Given the description of an element on the screen output the (x, y) to click on. 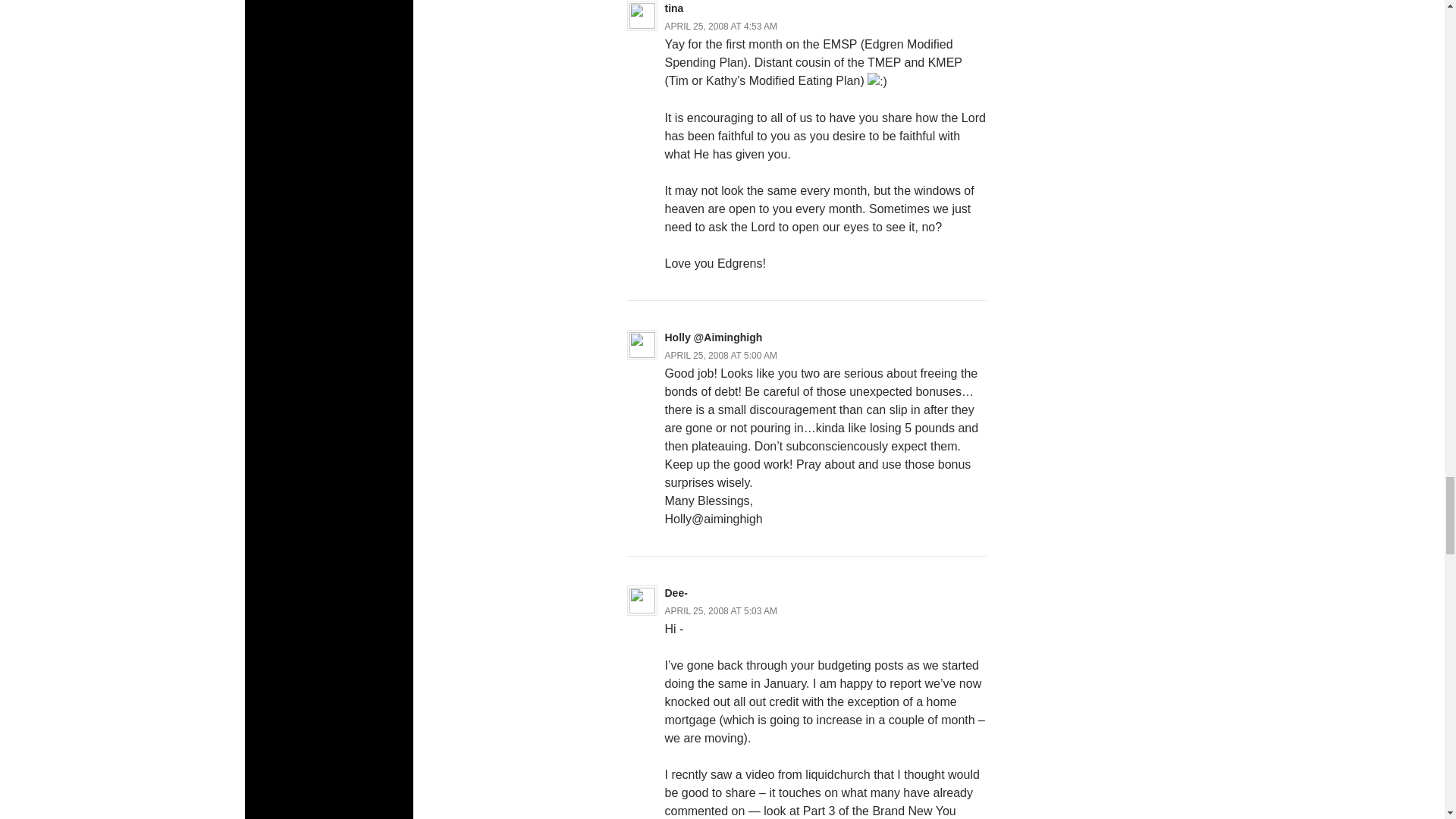
Dee- (675, 592)
APRIL 25, 2008 AT 4:53 AM (720, 26)
APRIL 25, 2008 AT 5:03 AM (720, 611)
APRIL 25, 2008 AT 5:00 AM (720, 355)
